Given the description of an element on the screen output the (x, y) to click on. 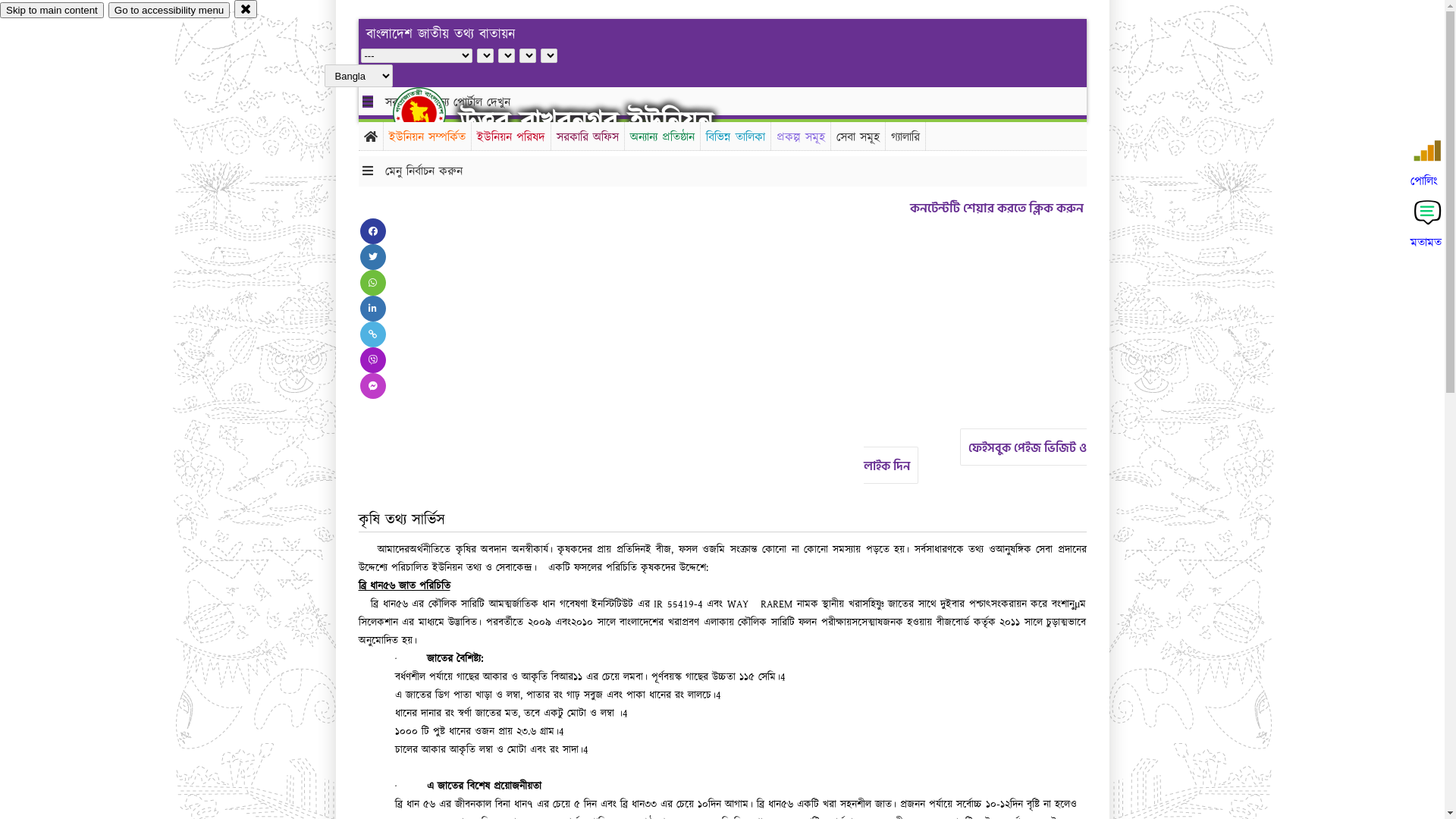
close Element type: hover (245, 9)

                
             Element type: hover (431, 112)
Skip to main content Element type: text (51, 10)
Go to accessibility menu Element type: text (168, 10)
